Given the description of an element on the screen output the (x, y) to click on. 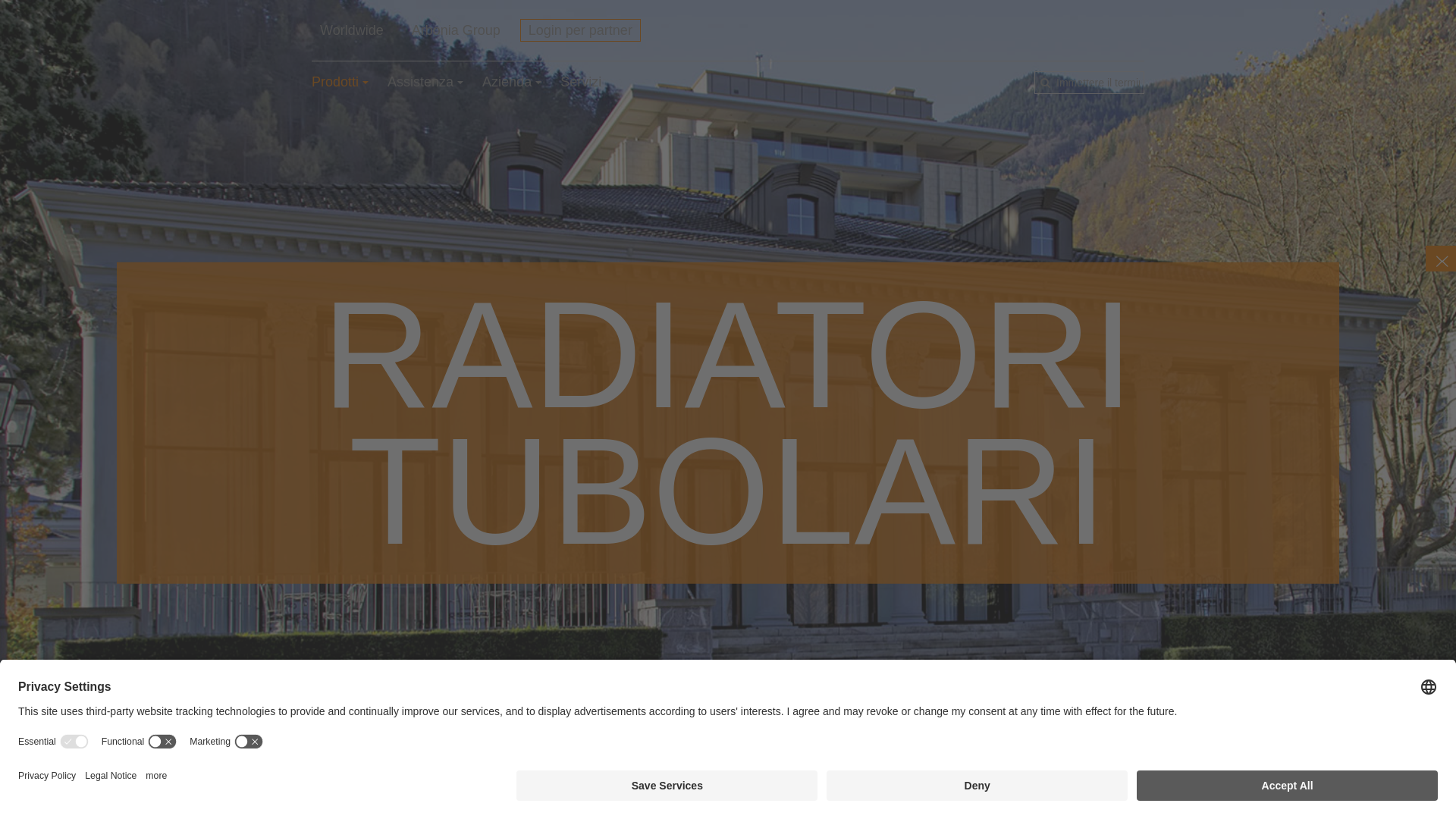
Worldwide Element type: text (351, 29)
Servizi Element type: text (580, 84)
Arbonia Group Element type: text (455, 29)
Login per partner Element type: text (580, 29)
Azienda Element type: text (511, 84)
Prodotti Element type: text (339, 84)
Assistenza Element type: text (425, 84)
